Given the description of an element on the screen output the (x, y) to click on. 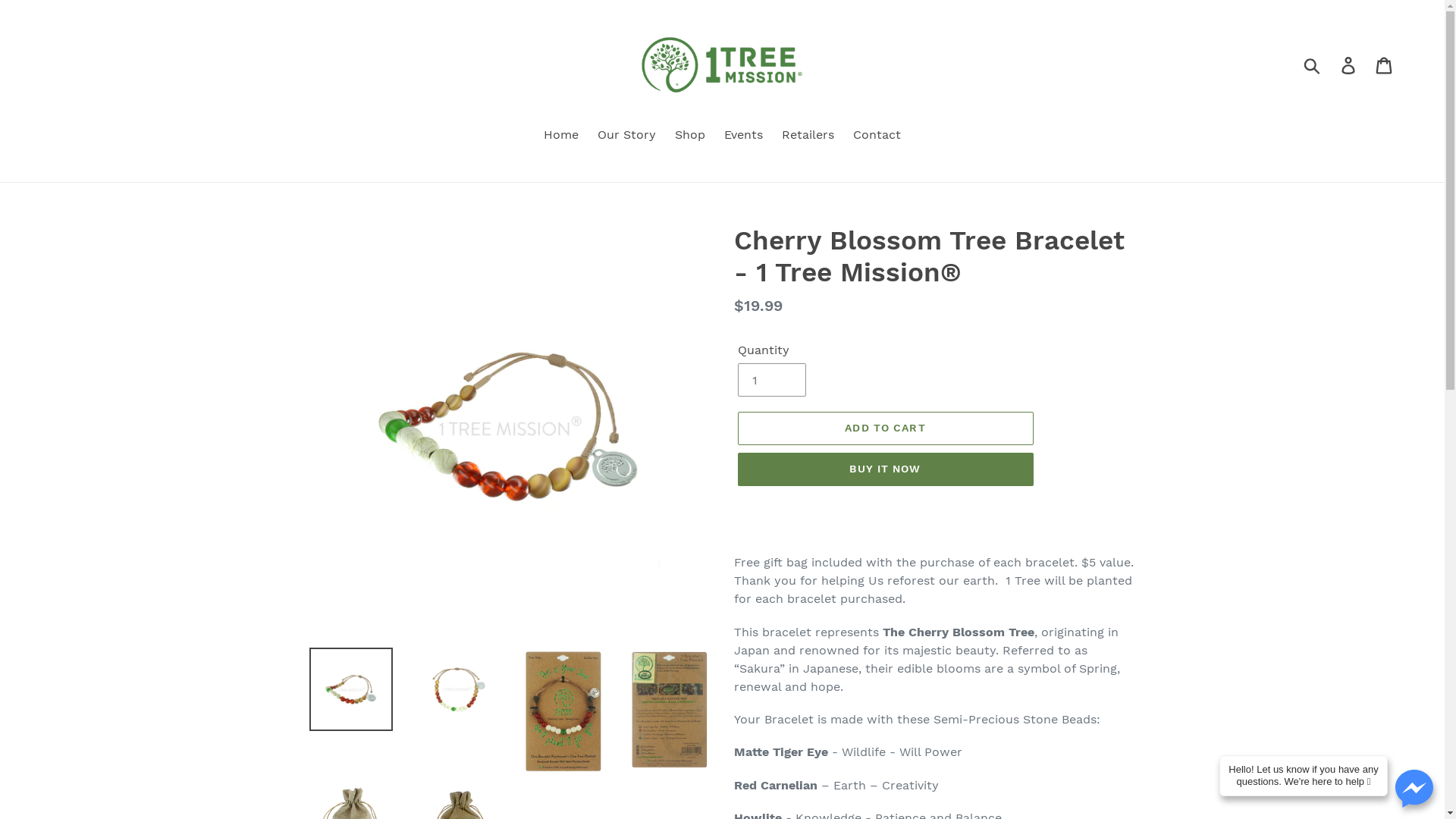
ADD TO CART Element type: text (884, 428)
Submit Element type: text (1312, 64)
Retailers Element type: text (807, 135)
BUY IT NOW Element type: text (884, 469)
Log in Element type: text (1349, 64)
Events Element type: text (743, 135)
Contact Element type: text (876, 135)
Shop Element type: text (689, 135)
Home Element type: text (561, 135)
Cart Element type: text (1384, 64)
Our Story Element type: text (626, 135)
